Given the description of an element on the screen output the (x, y) to click on. 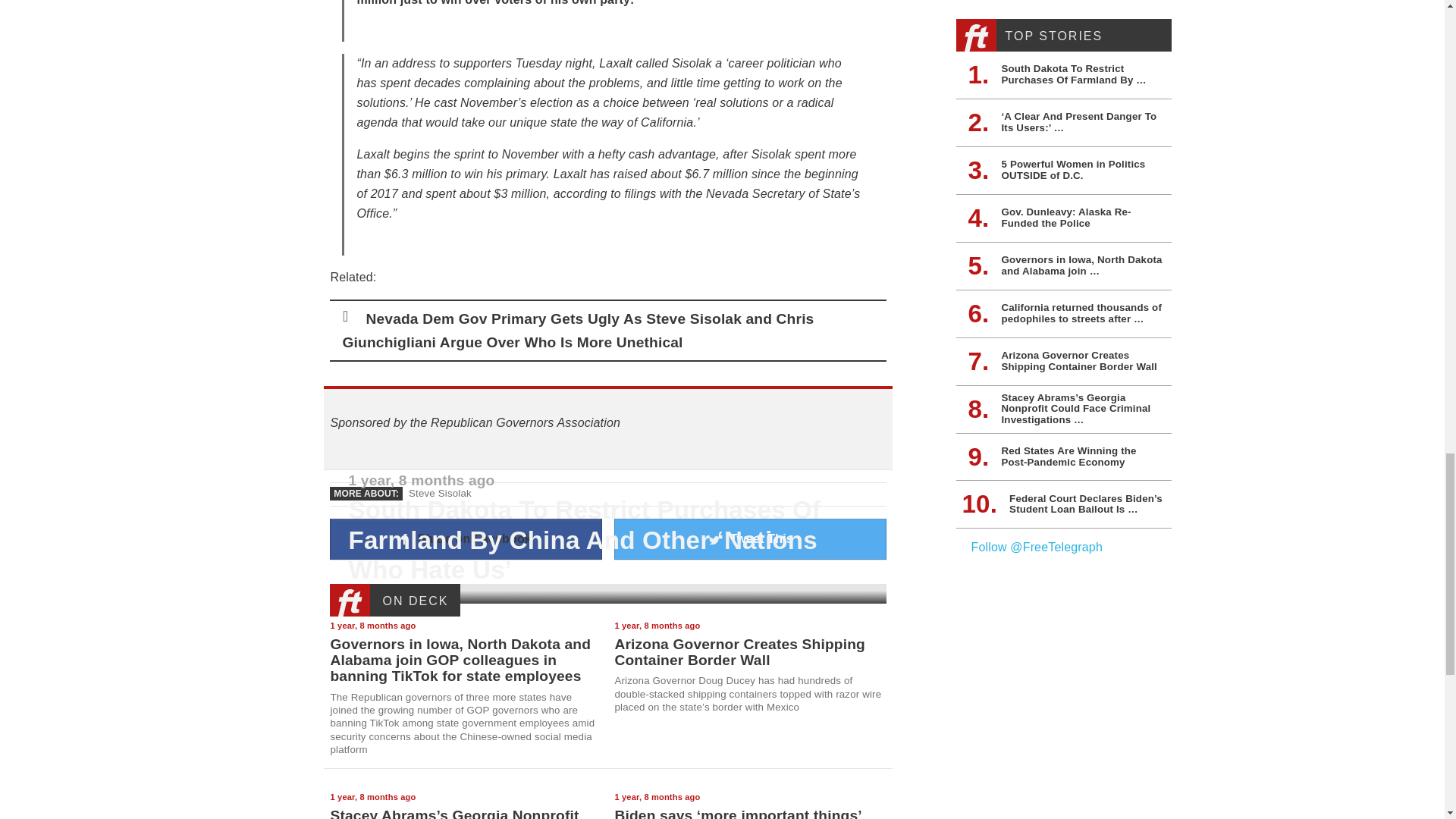
Share on Facebook (466, 538)
Steve Sisolak (440, 492)
Tweet This (750, 538)
